Given the description of an element on the screen output the (x, y) to click on. 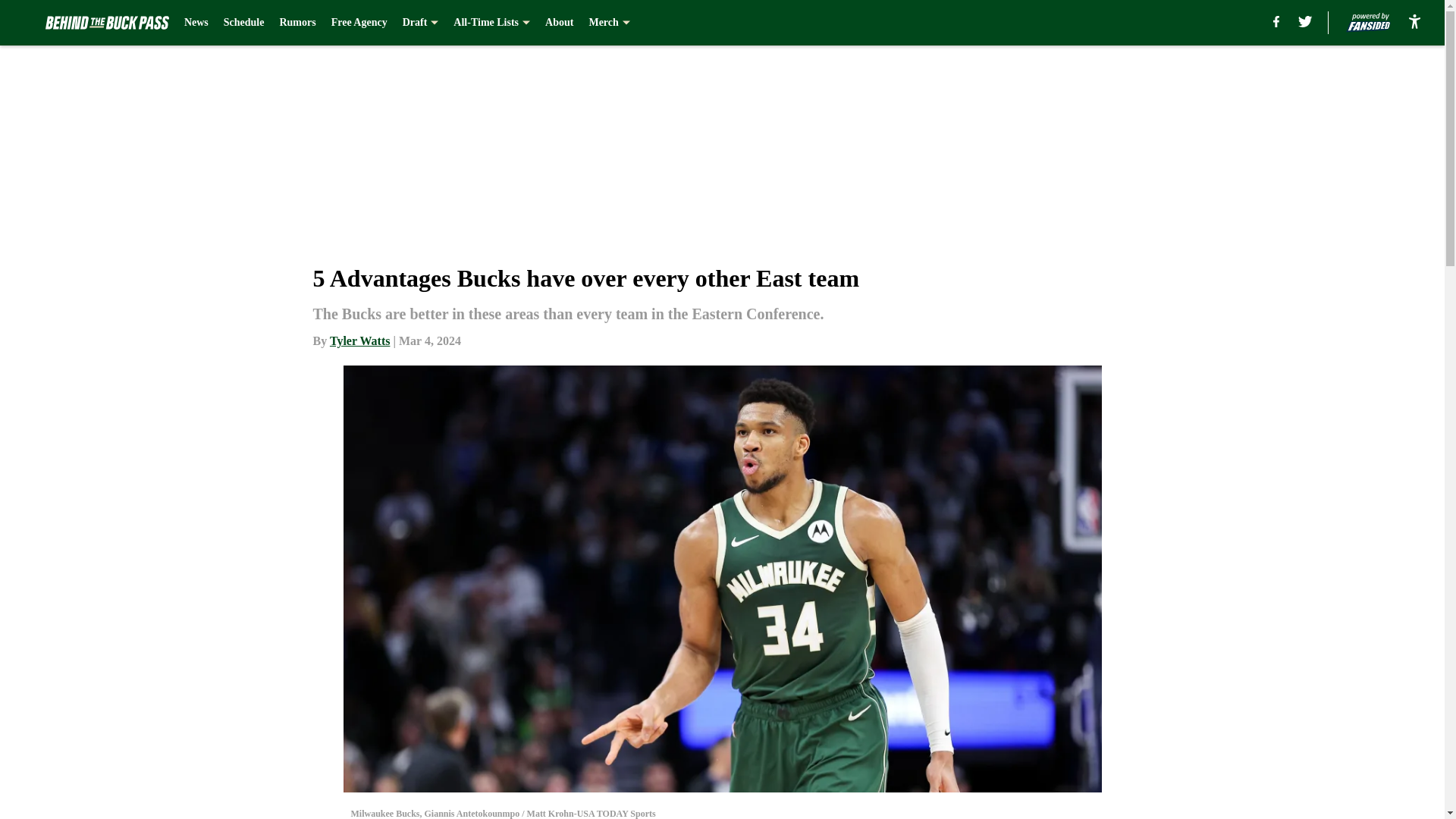
Tyler Watts (360, 340)
Rumors (297, 22)
Schedule (244, 22)
Draft (421, 22)
Free Agency (359, 22)
All-Time Lists (490, 22)
News (196, 22)
About (558, 22)
